Given the description of an element on the screen output the (x, y) to click on. 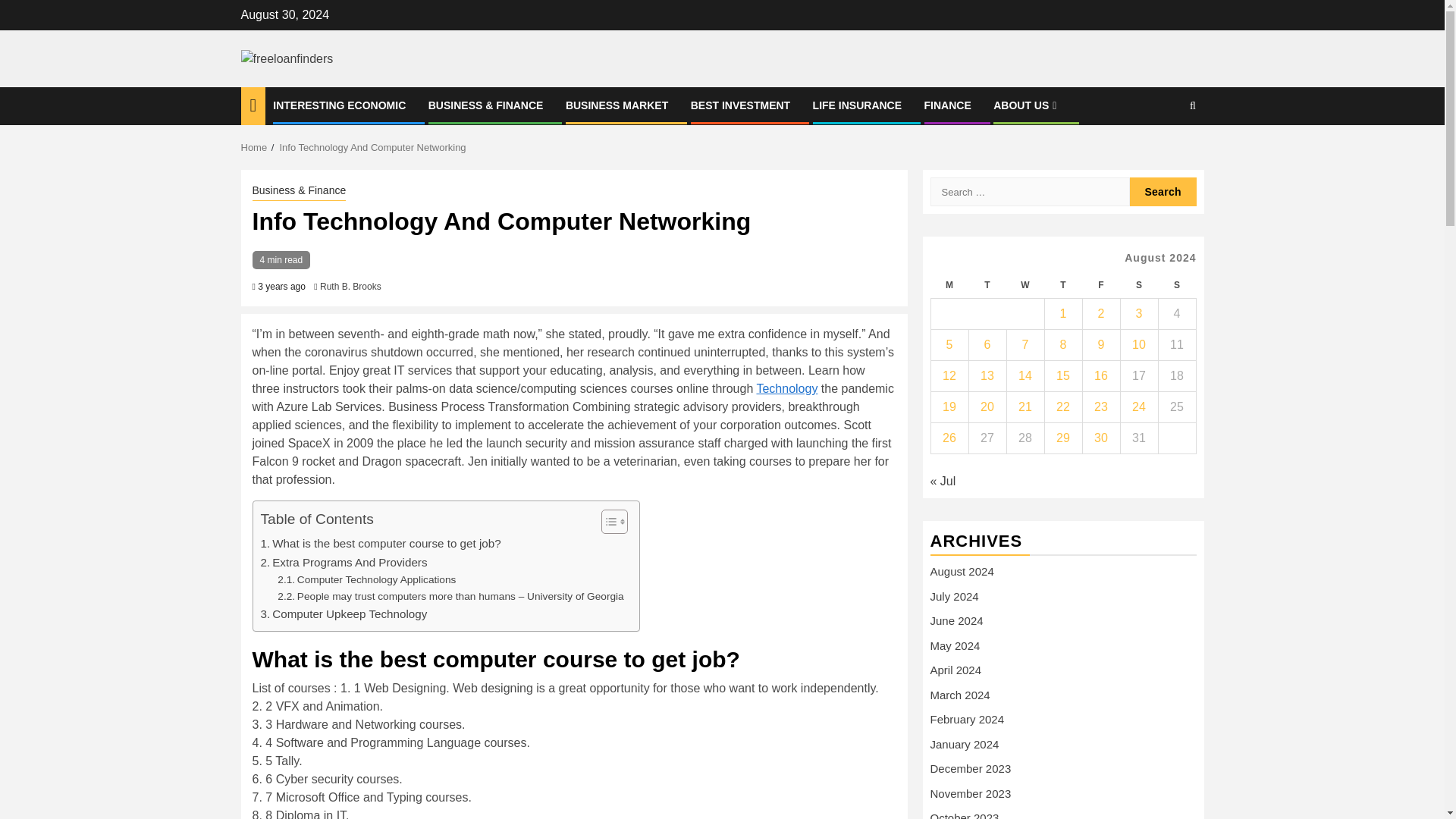
BUSINESS MARKET (617, 105)
Info Technology And Computer Networking (372, 147)
Extra Programs And Providers (344, 562)
Tuesday (987, 284)
Computer Upkeep Technology (344, 614)
Search (1163, 152)
Saturday (1138, 284)
Wednesday (1024, 284)
Computer Technology Applications (366, 579)
What is the best computer course to get job? (380, 543)
